Given the description of an element on the screen output the (x, y) to click on. 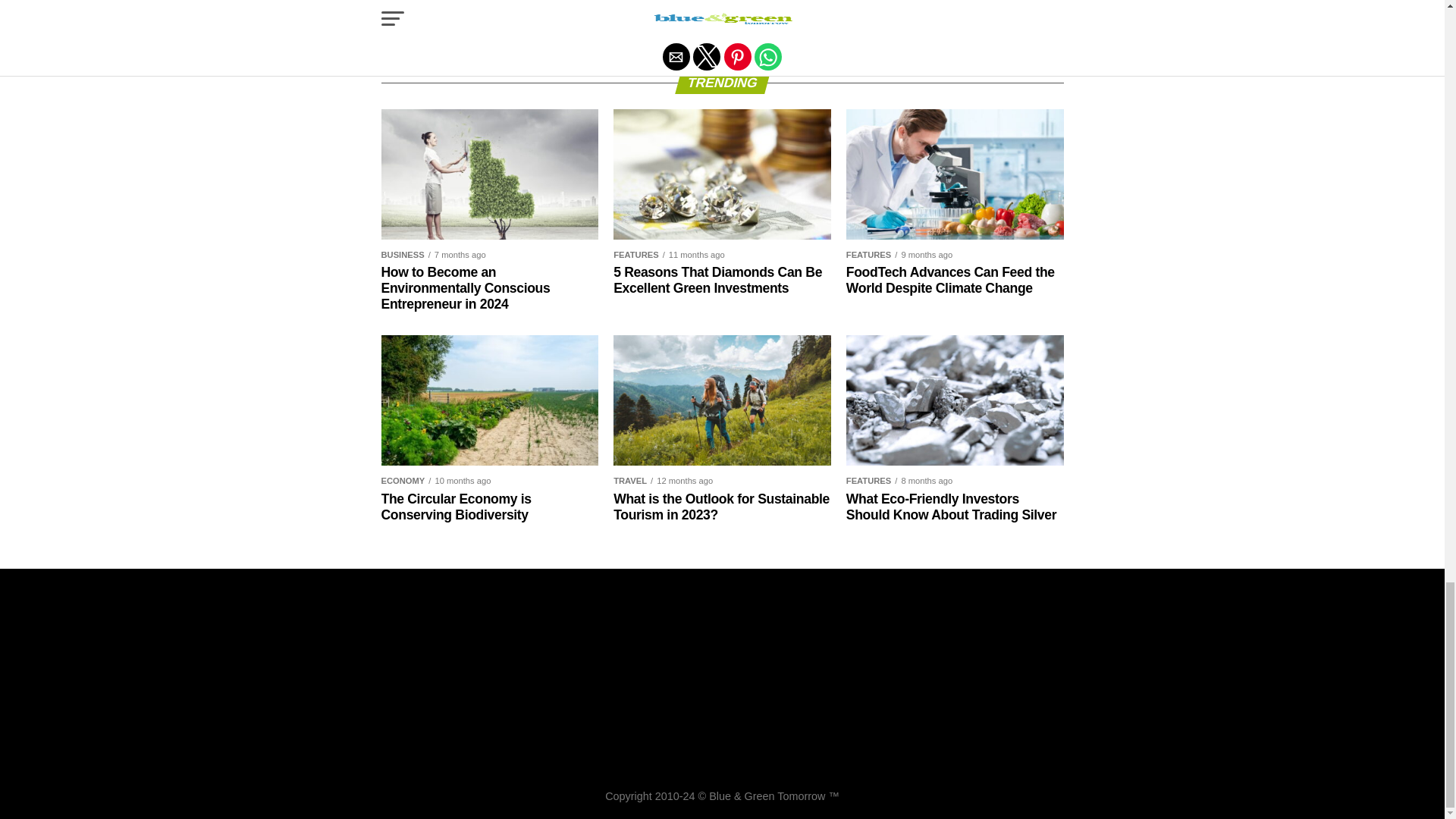
AVIATION (503, 5)
TICKETS (705, 19)
FLYING (893, 5)
SLIDER4 (650, 19)
ICAO (975, 5)
FLIGHTS (842, 5)
CO2 (662, 5)
INTERNATIONAL CIVIL AVIATION ORGANISATION (502, 19)
EUROPEAN COMMISSION (747, 5)
UNIVERSITY OF SOUTHAMPTON (817, 19)
